Given the description of an element on the screen output the (x, y) to click on. 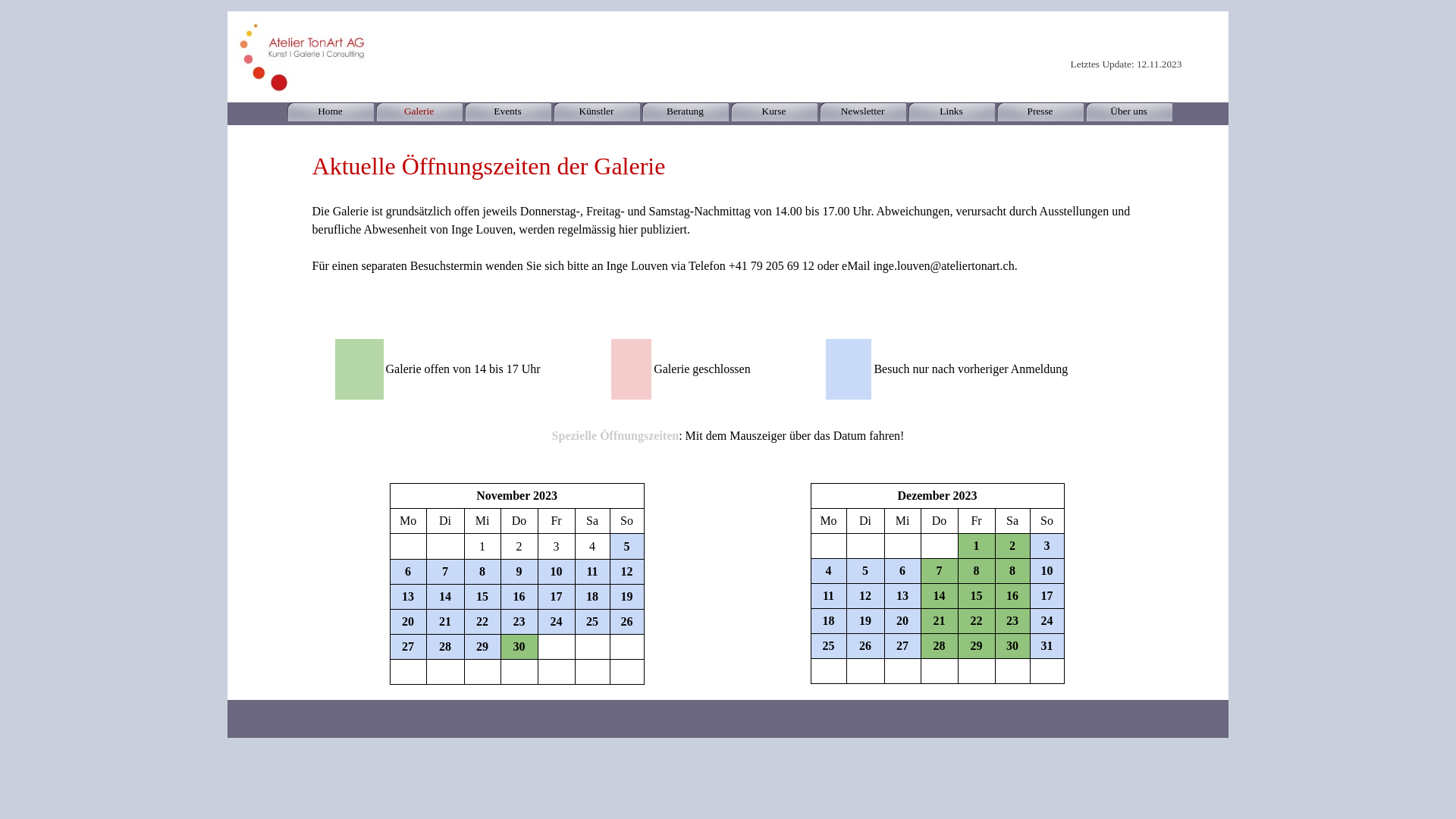
Links Element type: text (951, 111)
Home Element type: text (330, 111)
